Given the description of an element on the screen output the (x, y) to click on. 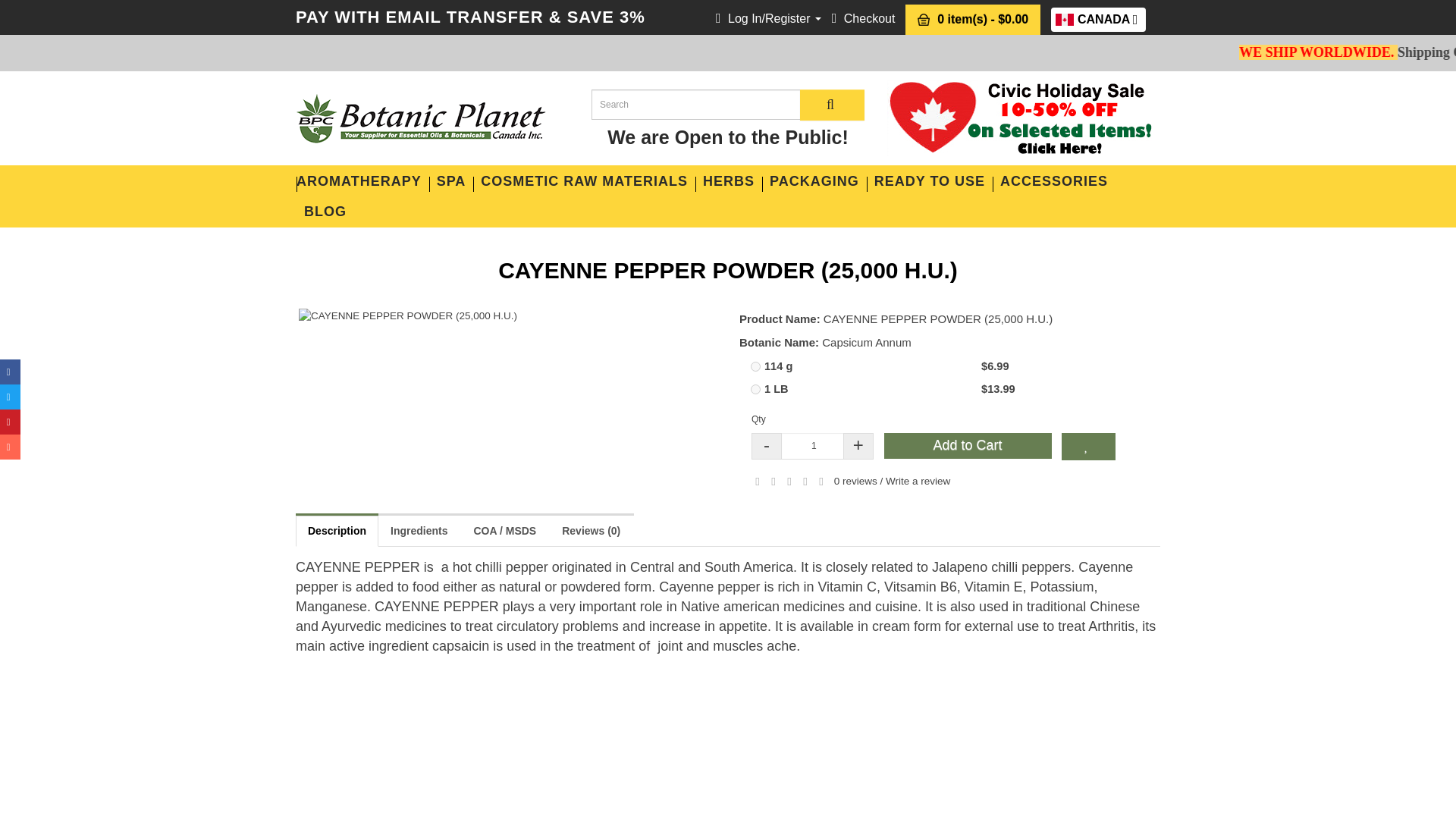
Botanic Planet Canada Inc (420, 118)
COSMETIC RAW MATERIALS (584, 181)
SPA (451, 181)
11599 (755, 388)
19642 (1098, 19)
Checkout (755, 366)
Add to Wish List (863, 18)
Checkout (1088, 446)
1 (863, 18)
